Given the description of an element on the screen output the (x, y) to click on. 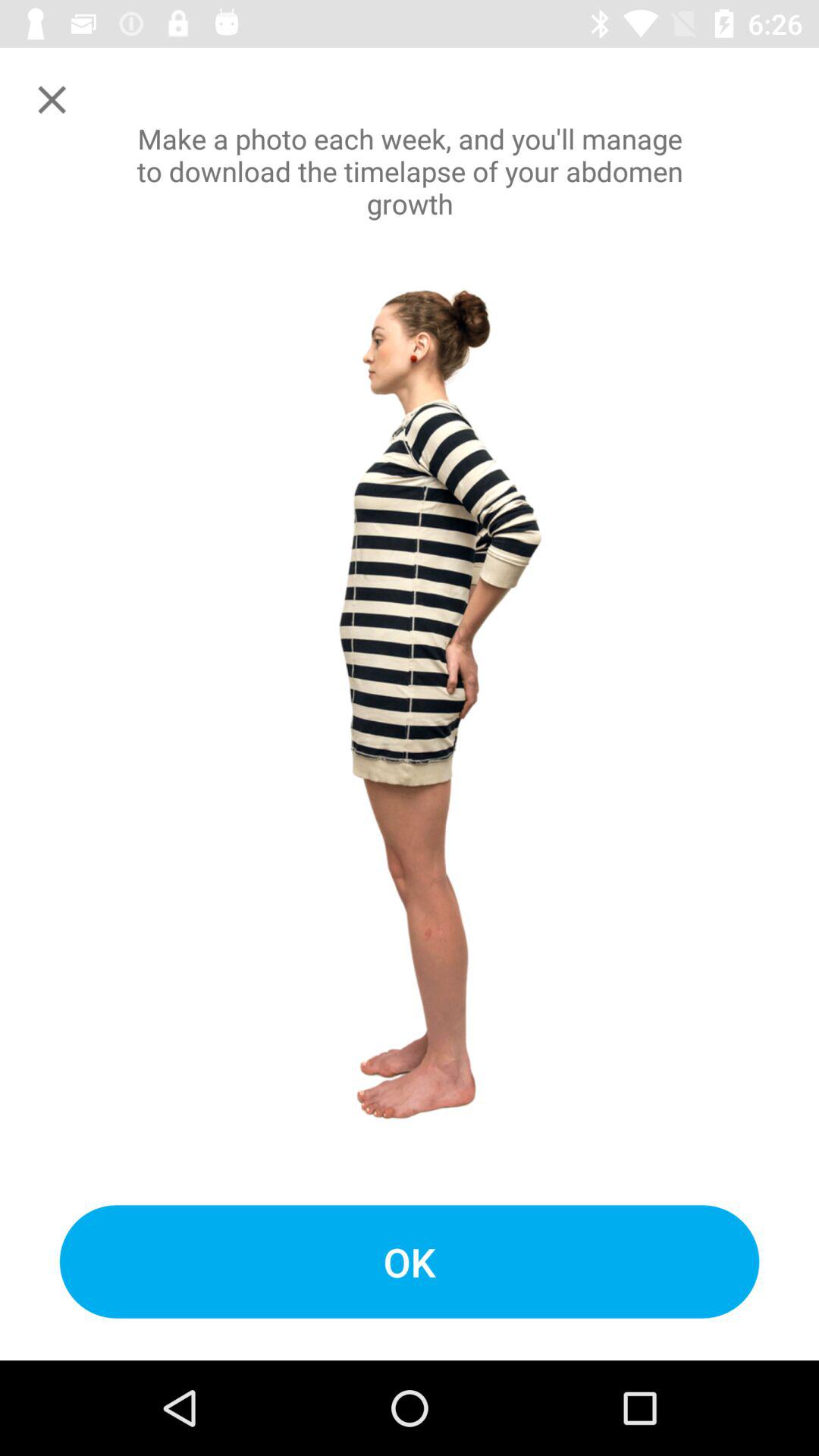
exit button (51, 99)
